Given the description of an element on the screen output the (x, y) to click on. 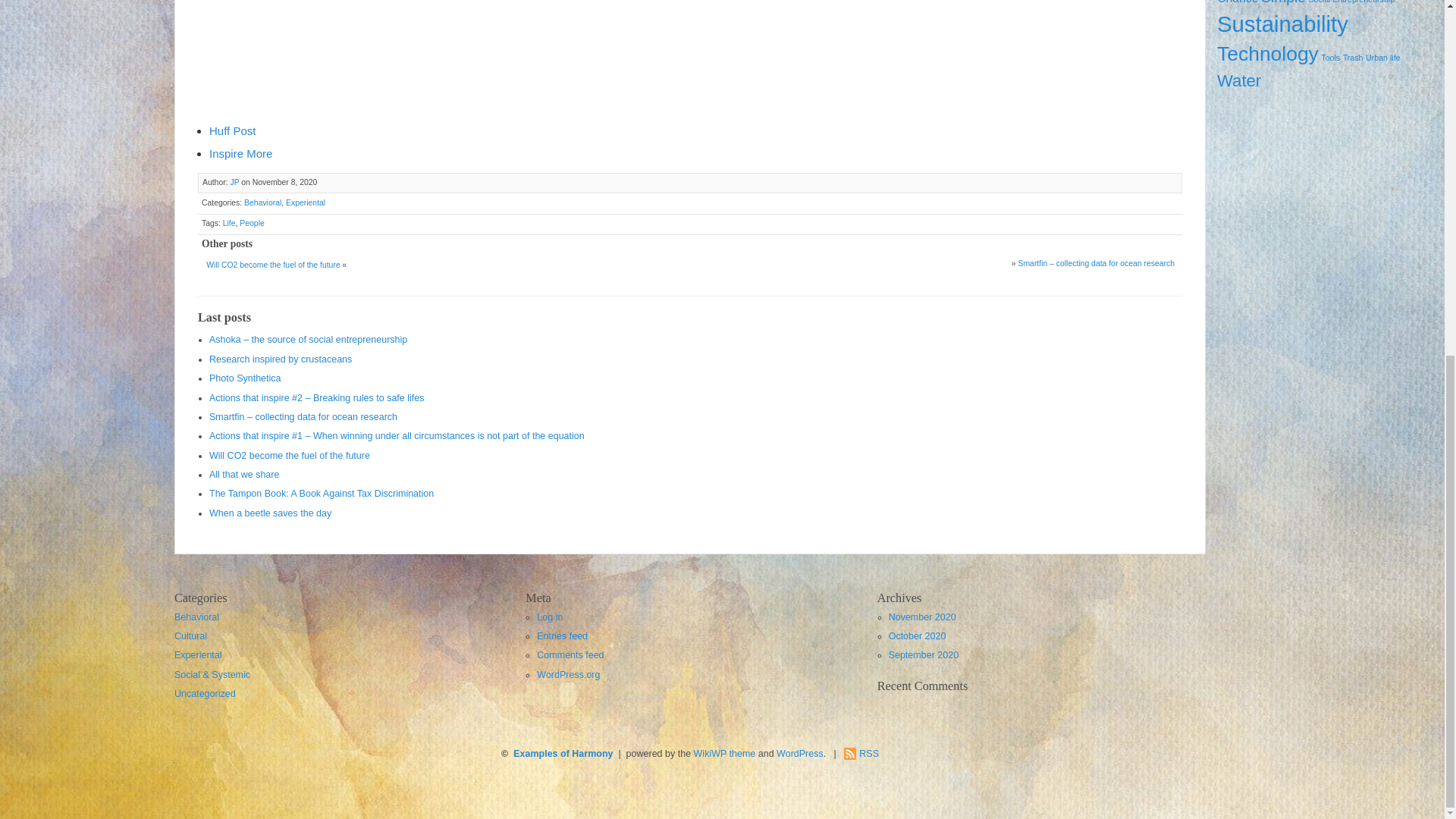
All that we share (244, 474)
Will CO2 become the fuel of the future (289, 455)
JP (234, 182)
Huff Post (232, 130)
When a beetle saves the day (270, 512)
The Tampon Book: A Book Against Tax Discrimination (321, 493)
Wikipedia look-a-like theme for WordPress (724, 753)
People (251, 223)
Research inspired by crustaceans (280, 358)
Behavioral (262, 203)
